Given the description of an element on the screen output the (x, y) to click on. 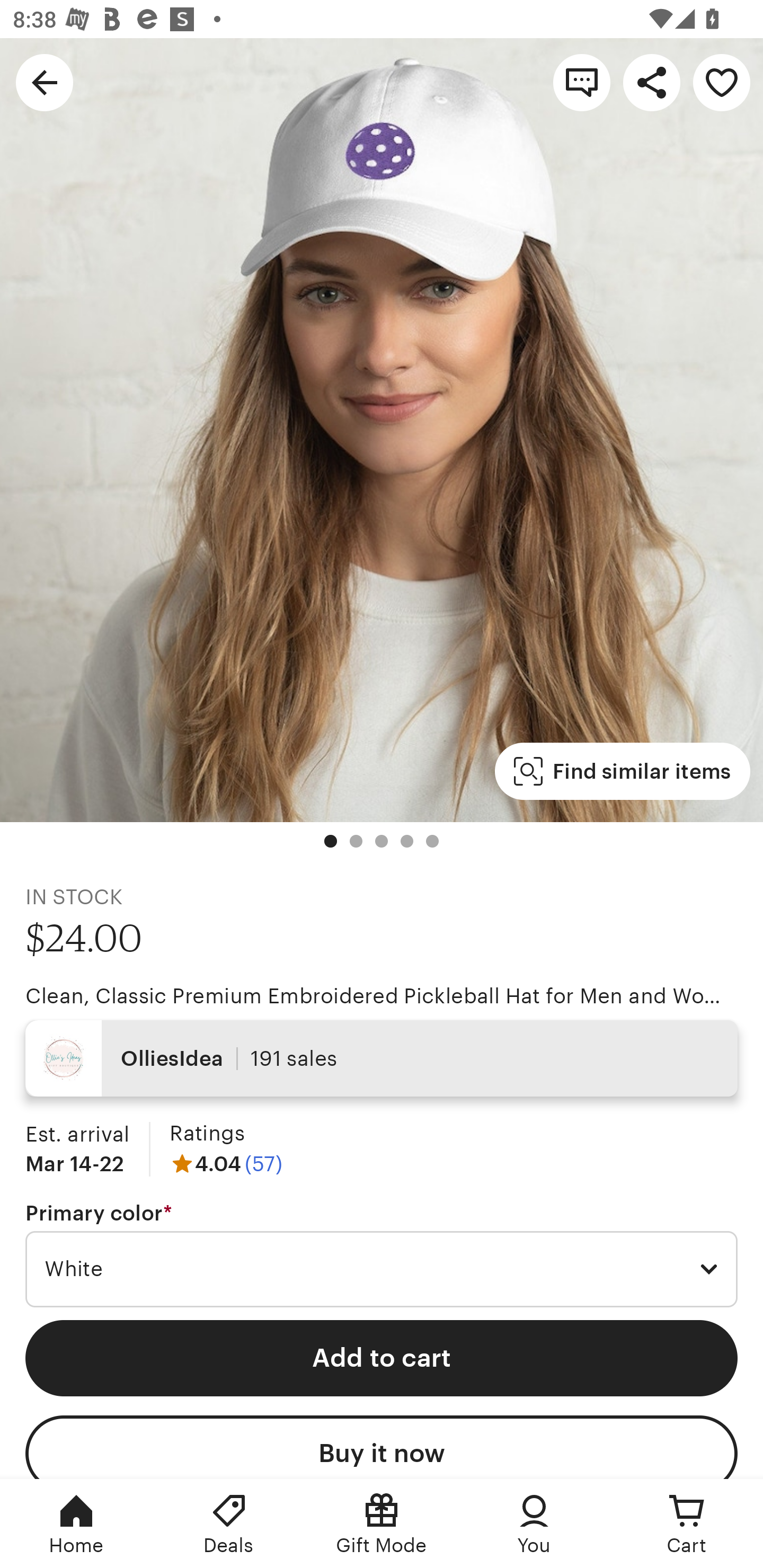
Navigate up (44, 81)
Contact shop (581, 81)
Share (651, 81)
Find similar items (622, 771)
OlliesIdea 191 sales (381, 1058)
Ratings (206, 1133)
4.04 (57) (226, 1163)
Primary color * Required White (381, 1254)
White (381, 1268)
Add to cart (381, 1358)
Buy it now (381, 1446)
Deals (228, 1523)
Gift Mode (381, 1523)
You (533, 1523)
Cart (686, 1523)
